Given the description of an element on the screen output the (x, y) to click on. 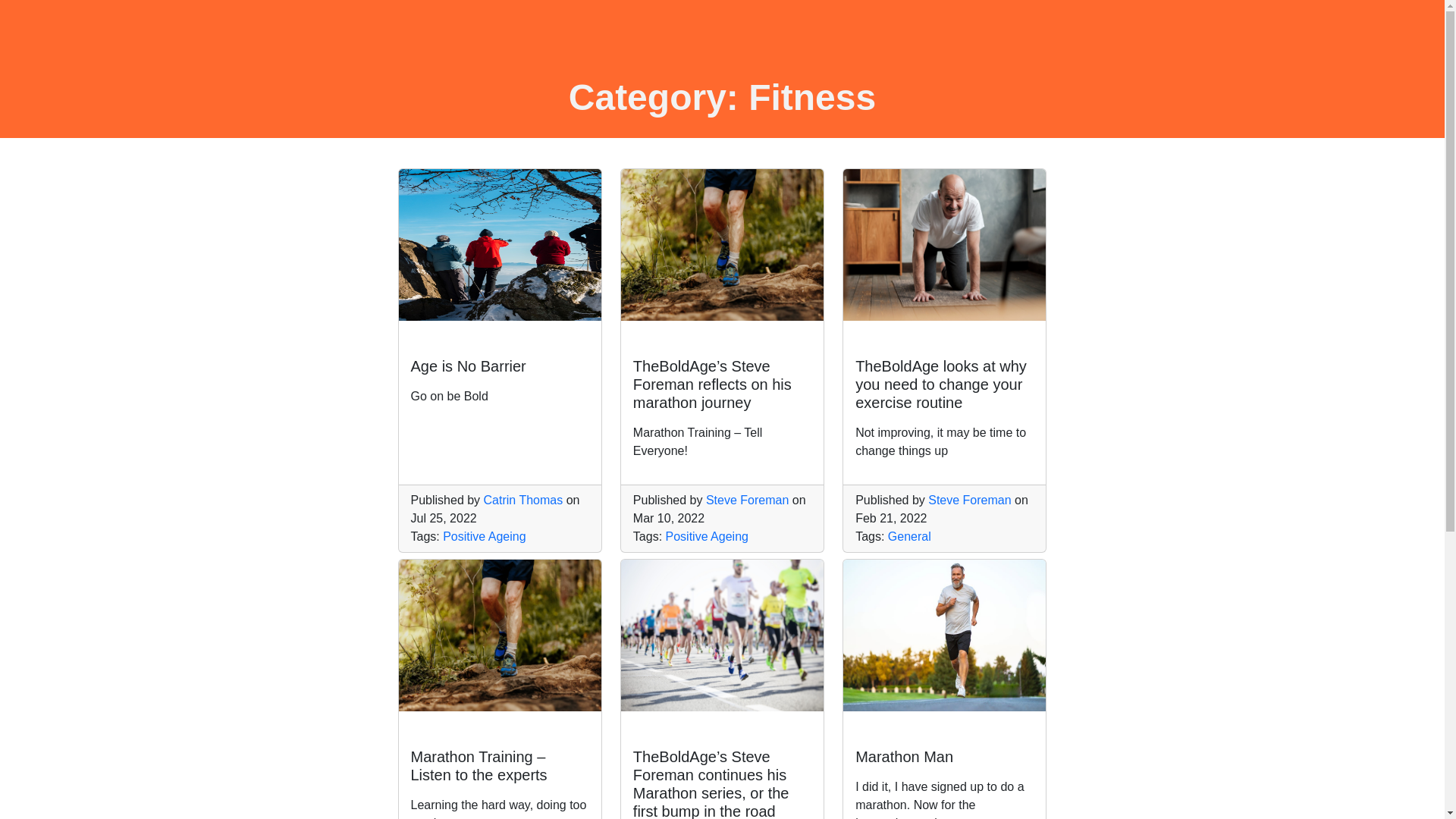
Positive Ageing (483, 535)
Positive Ageing (706, 535)
General (909, 535)
Steve Foreman (747, 499)
Steve Foreman (969, 499)
Catrin Thomas (499, 381)
